Given the description of an element on the screen output the (x, y) to click on. 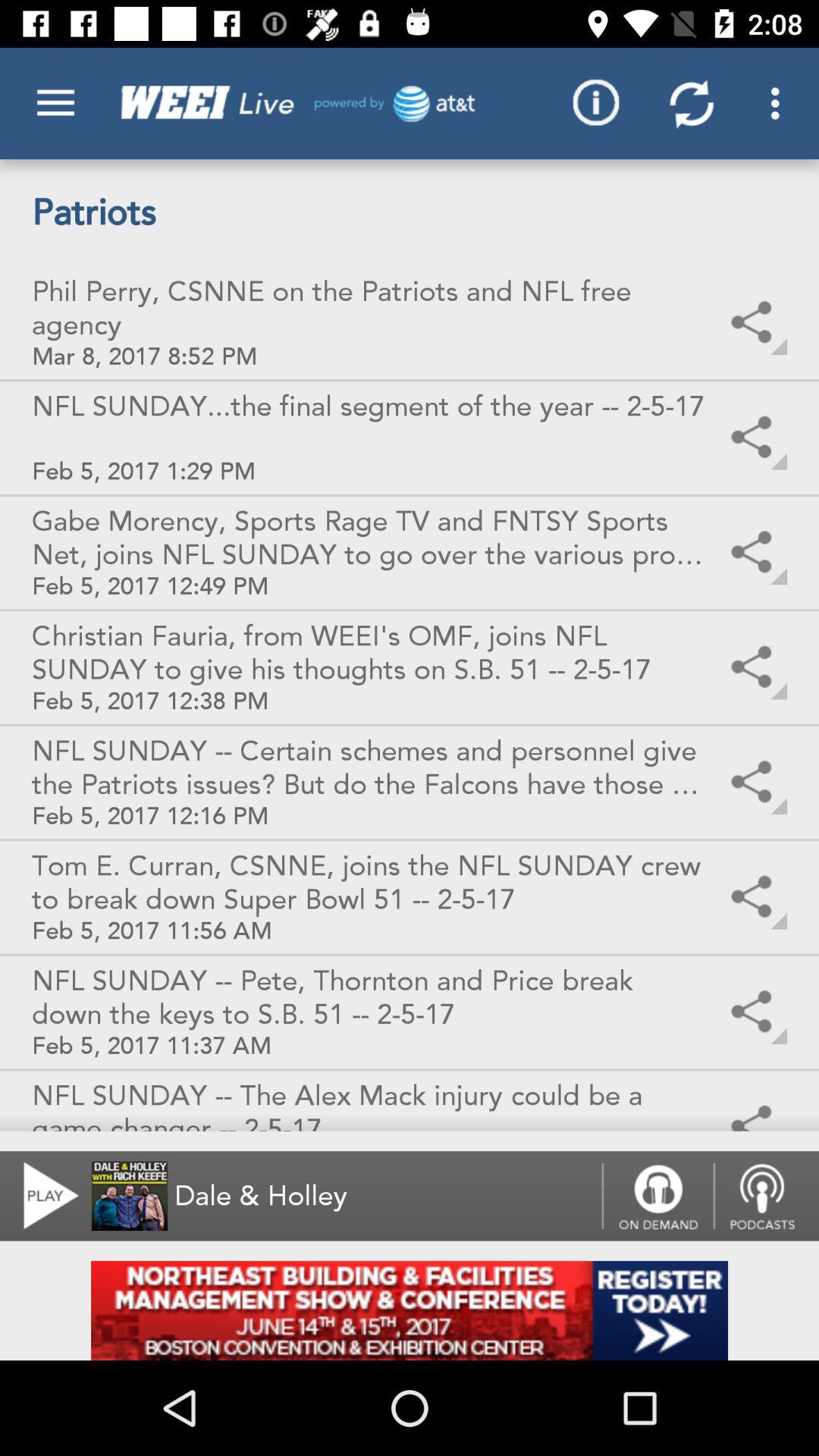
select share icon from the bottom second of the page (755, 1012)
